Given the description of an element on the screen output the (x, y) to click on. 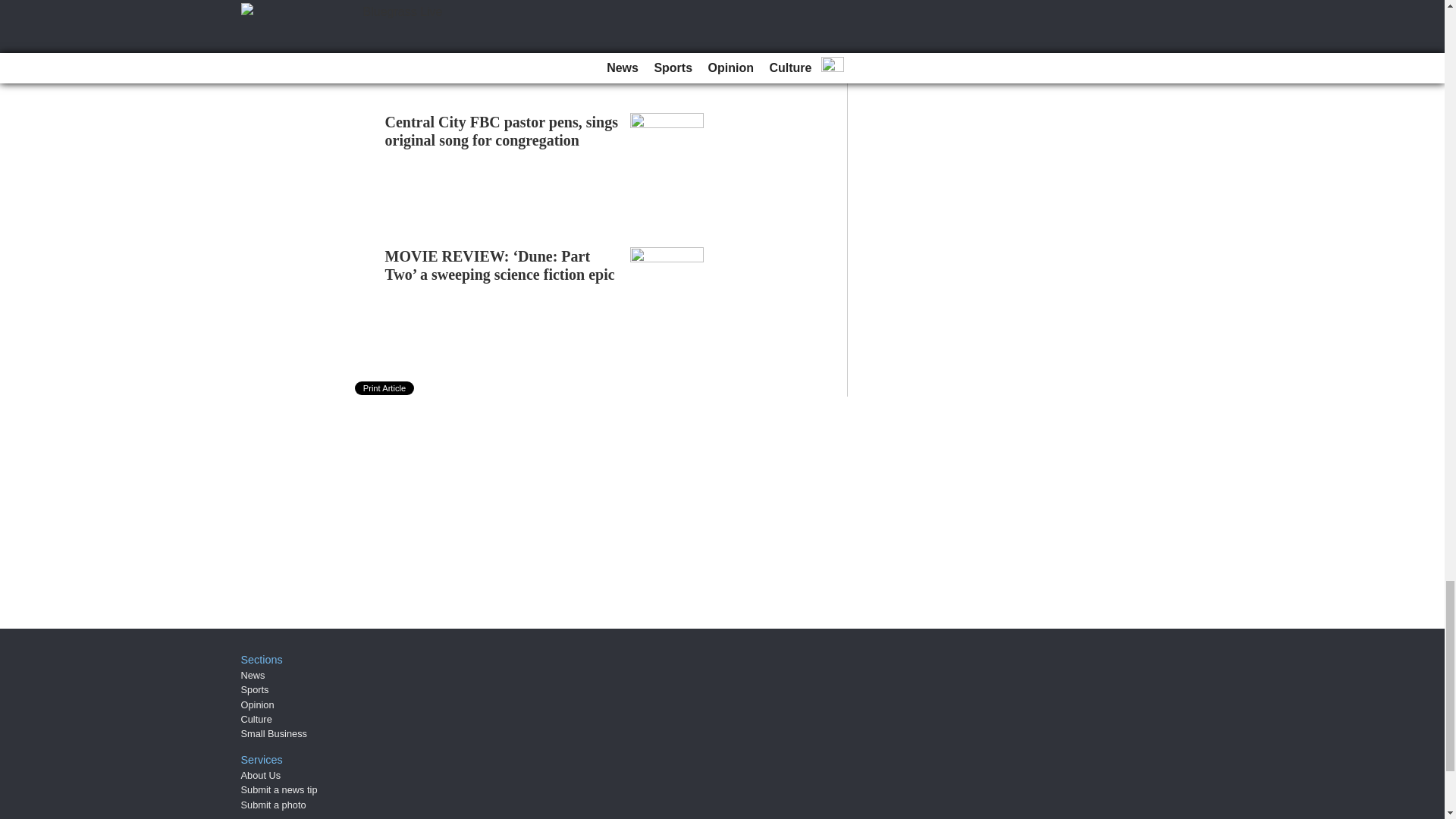
News (252, 674)
Opinion (258, 704)
Submit a news tip (279, 789)
Small Business (274, 733)
Culture (256, 718)
About Us (261, 775)
Print Article (384, 387)
Submit a photo (273, 804)
Sports (255, 689)
